Given the description of an element on the screen output the (x, y) to click on. 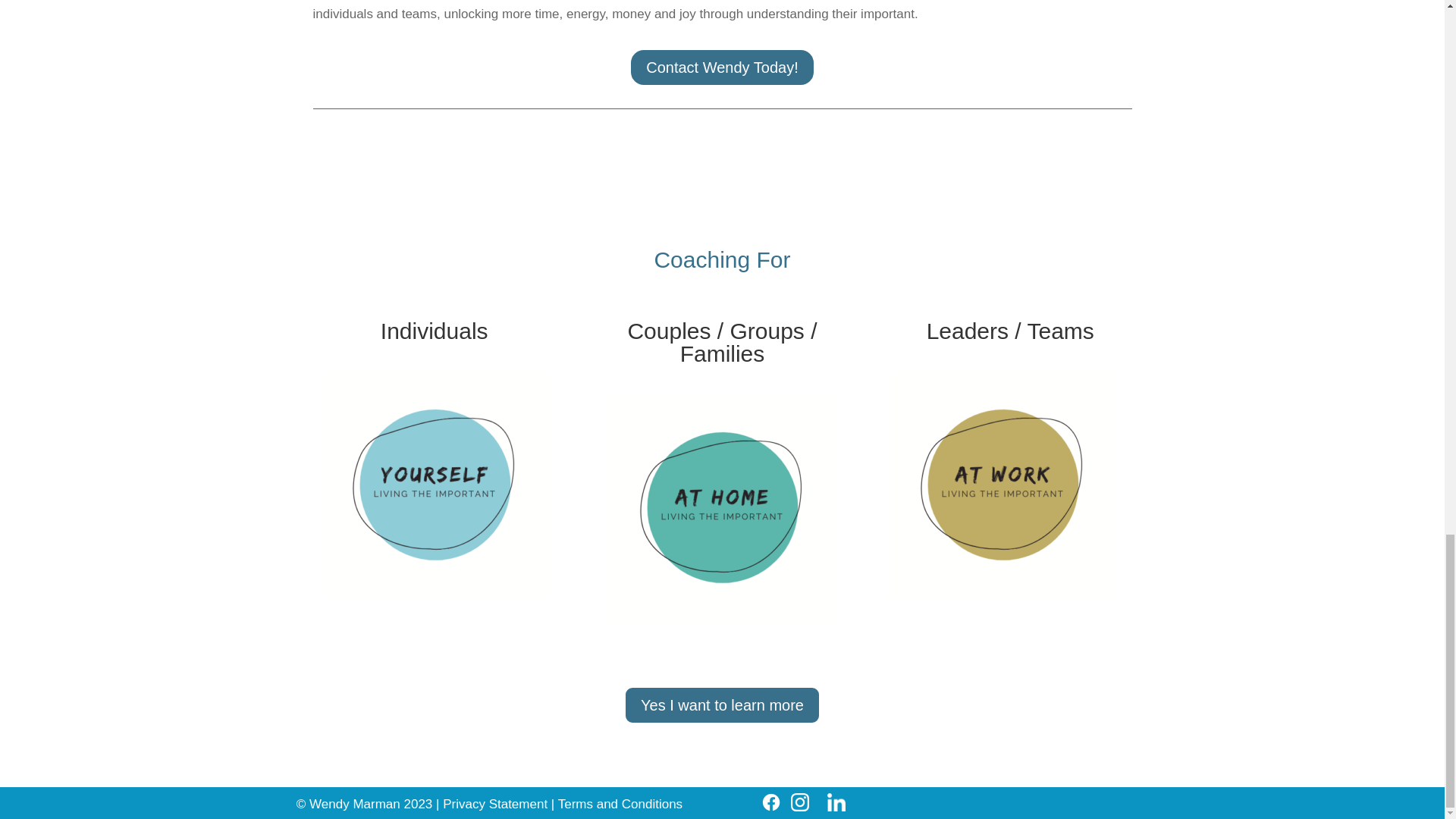
Terms and Conditions (618, 803)
Yes I want to learn more (722, 704)
Contact Wendy Today! (721, 67)
Privacy Statement (496, 803)
